Given the description of an element on the screen output the (x, y) to click on. 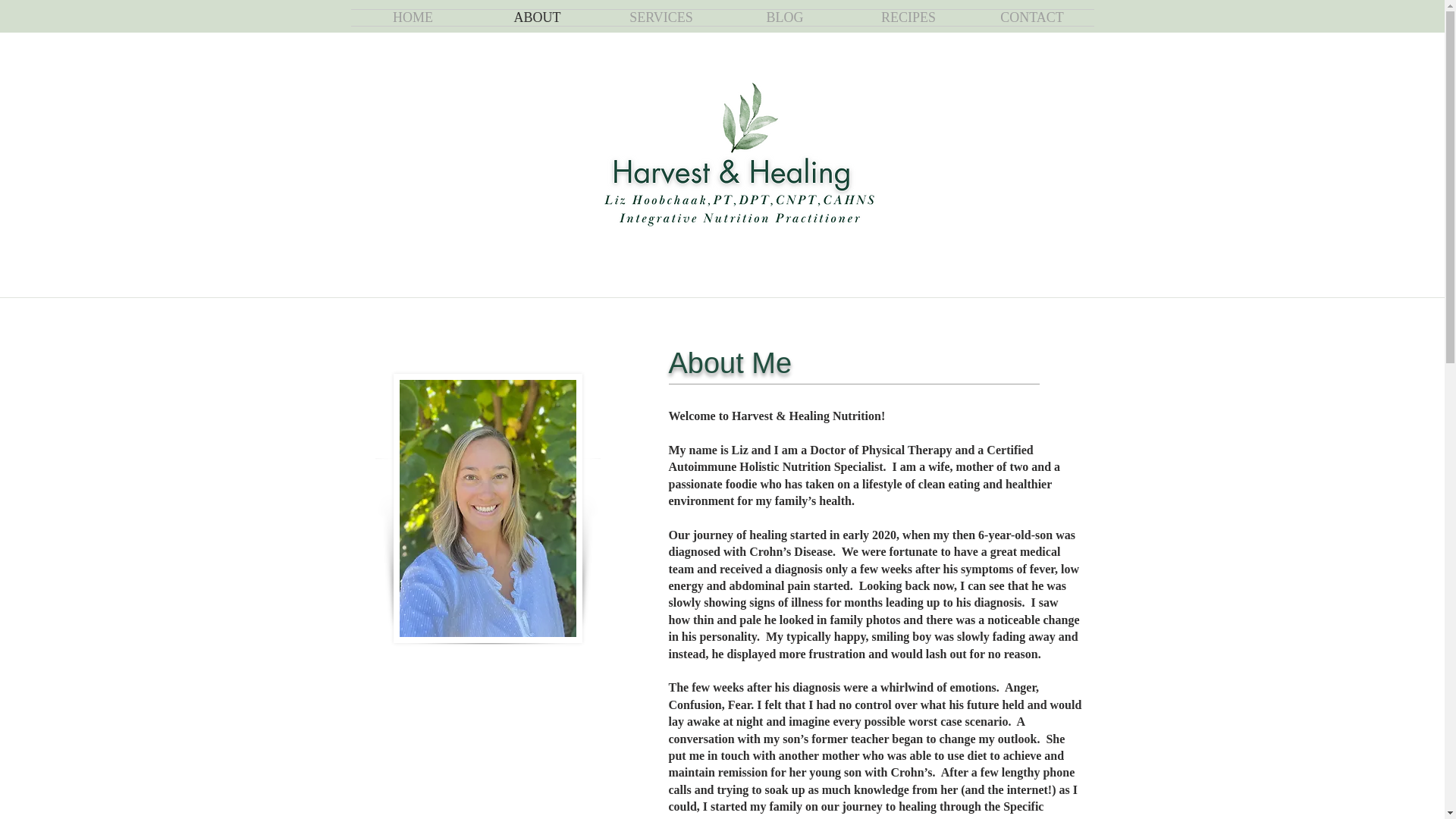
SERVICES (660, 17)
RECIPES (907, 17)
CONTACT (1032, 17)
BLOG (785, 17)
HOME (412, 17)
ABOUT (536, 17)
